Given the description of an element on the screen output the (x, y) to click on. 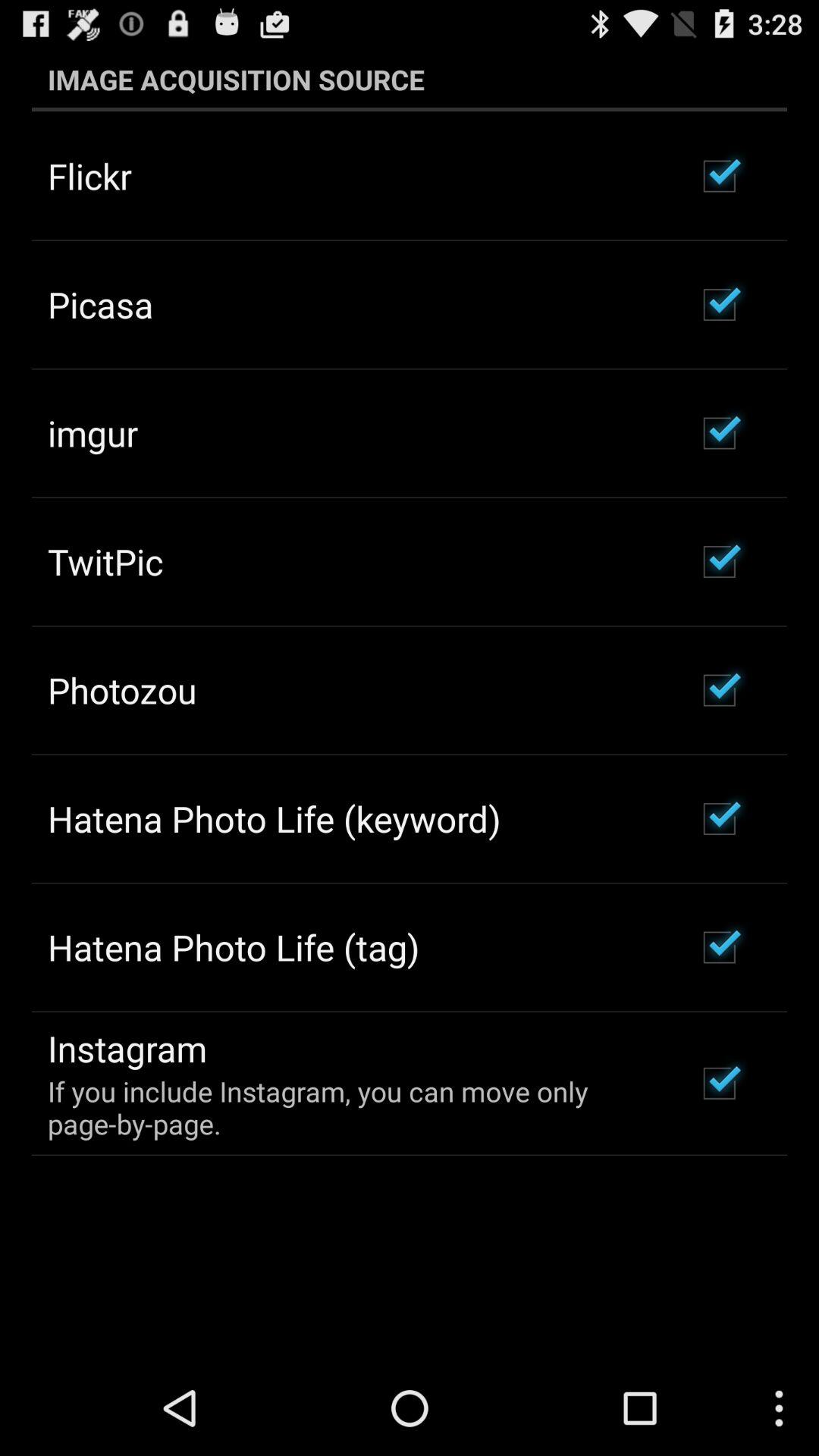
select picasa item (100, 304)
